Given the description of an element on the screen output the (x, y) to click on. 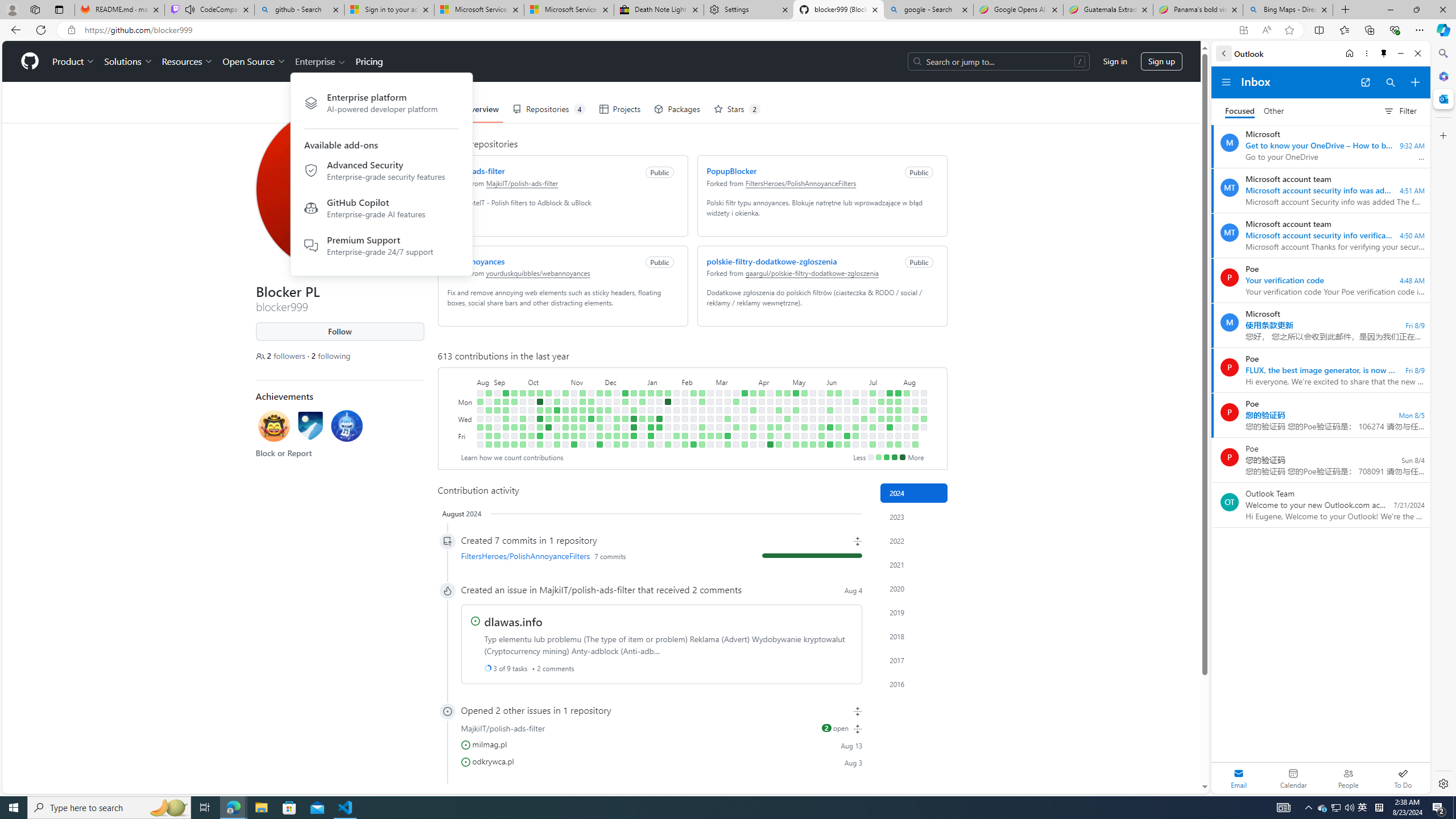
No contributions on May 17th. (804, 435)
3 contributions on December 13th. (616, 418)
No contributions on March 10th. (726, 392)
4 contributions on July 13th. (872, 444)
Back (1223, 53)
5 contributions on February 18th. (701, 392)
No contributions on August 16th. (914, 435)
No contributions on June 19th. (846, 418)
No contributions on January 29th. (675, 401)
1 contribution on September 1st. (488, 435)
No contributions on March 27th. (744, 418)
No contributions on May 10th. (795, 435)
2 followers  (280, 355)
